Given the description of an element on the screen output the (x, y) to click on. 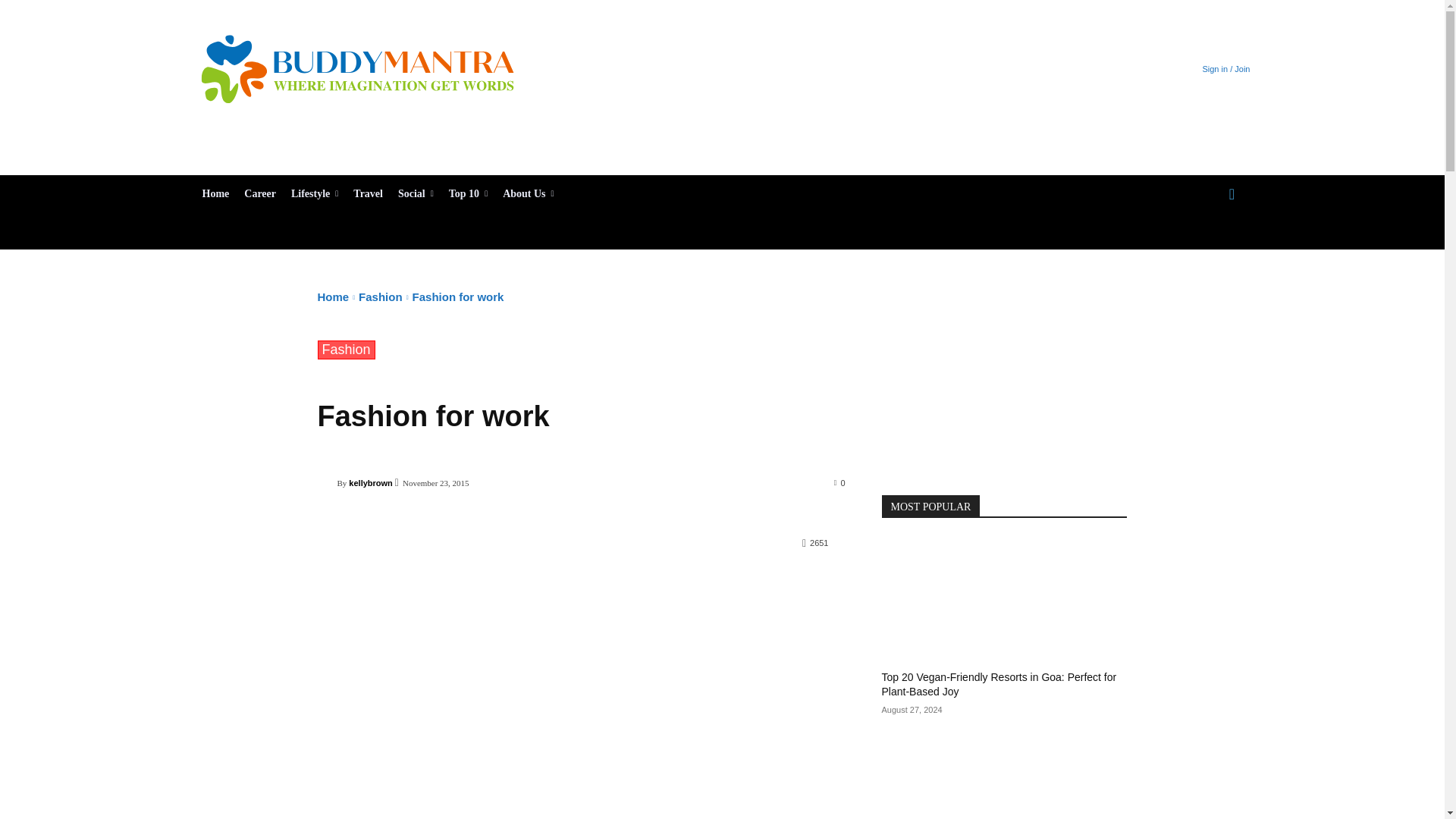
Social (415, 193)
View all posts in Fashion (380, 296)
kellybrown (326, 482)
Travel (368, 193)
Lifestyle (314, 193)
Top 10 (468, 193)
Career (259, 193)
About Us (527, 193)
Home (214, 193)
